Given the description of an element on the screen output the (x, y) to click on. 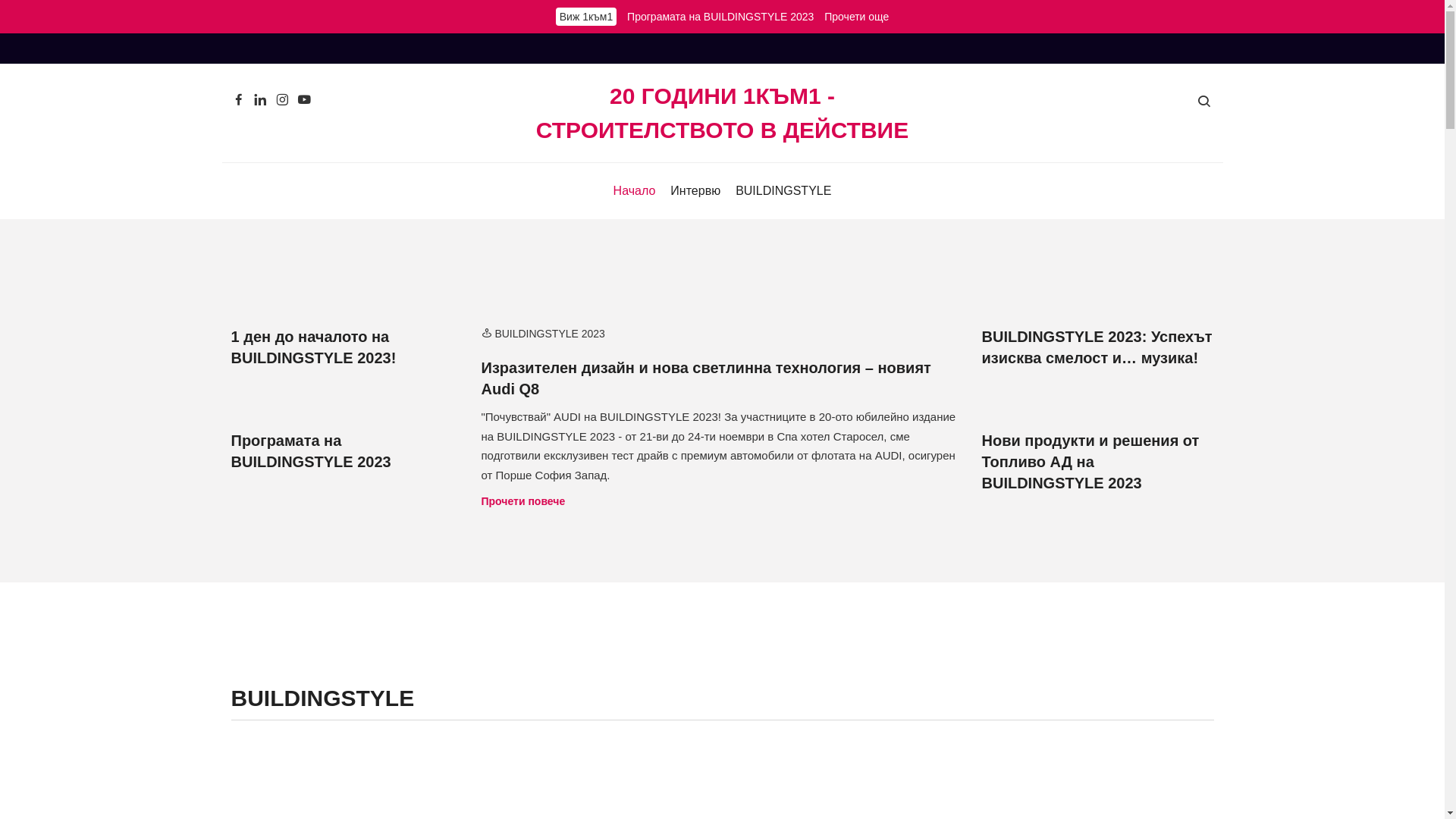
BUILDINGSTYLE Element type: text (783, 191)
